Given the description of an element on the screen output the (x, y) to click on. 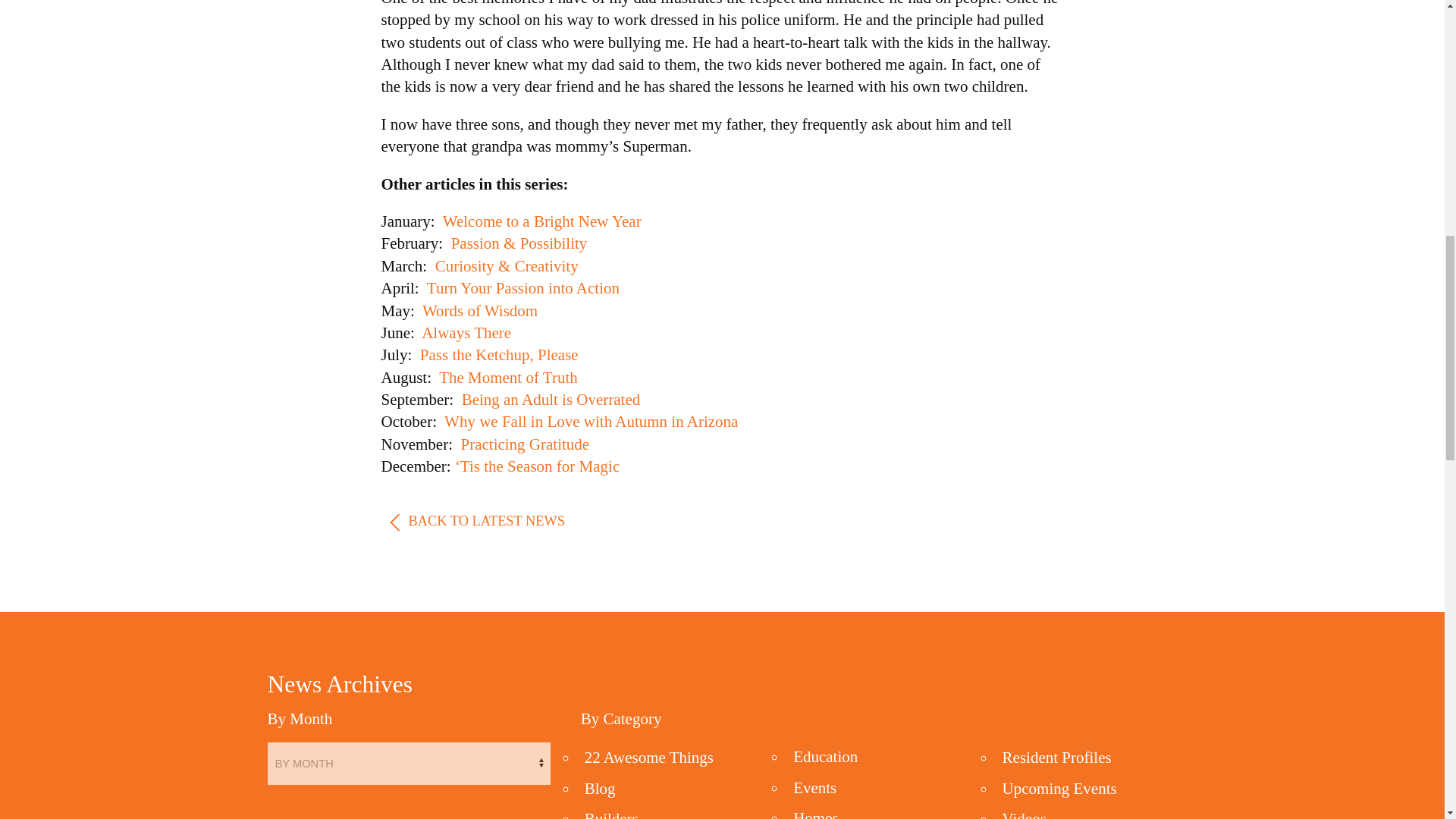
Pass the Ketchup, Please (499, 354)
Practicing Gratitude (524, 443)
Resident Profiles (1057, 757)
Always There (466, 332)
Practicing Gratitude (524, 443)
22 Awesome Things (649, 757)
Events (814, 787)
Welcome to a Bright New Year (542, 221)
Education (825, 756)
The Moment of Truth (508, 377)
